Given the description of an element on the screen output the (x, y) to click on. 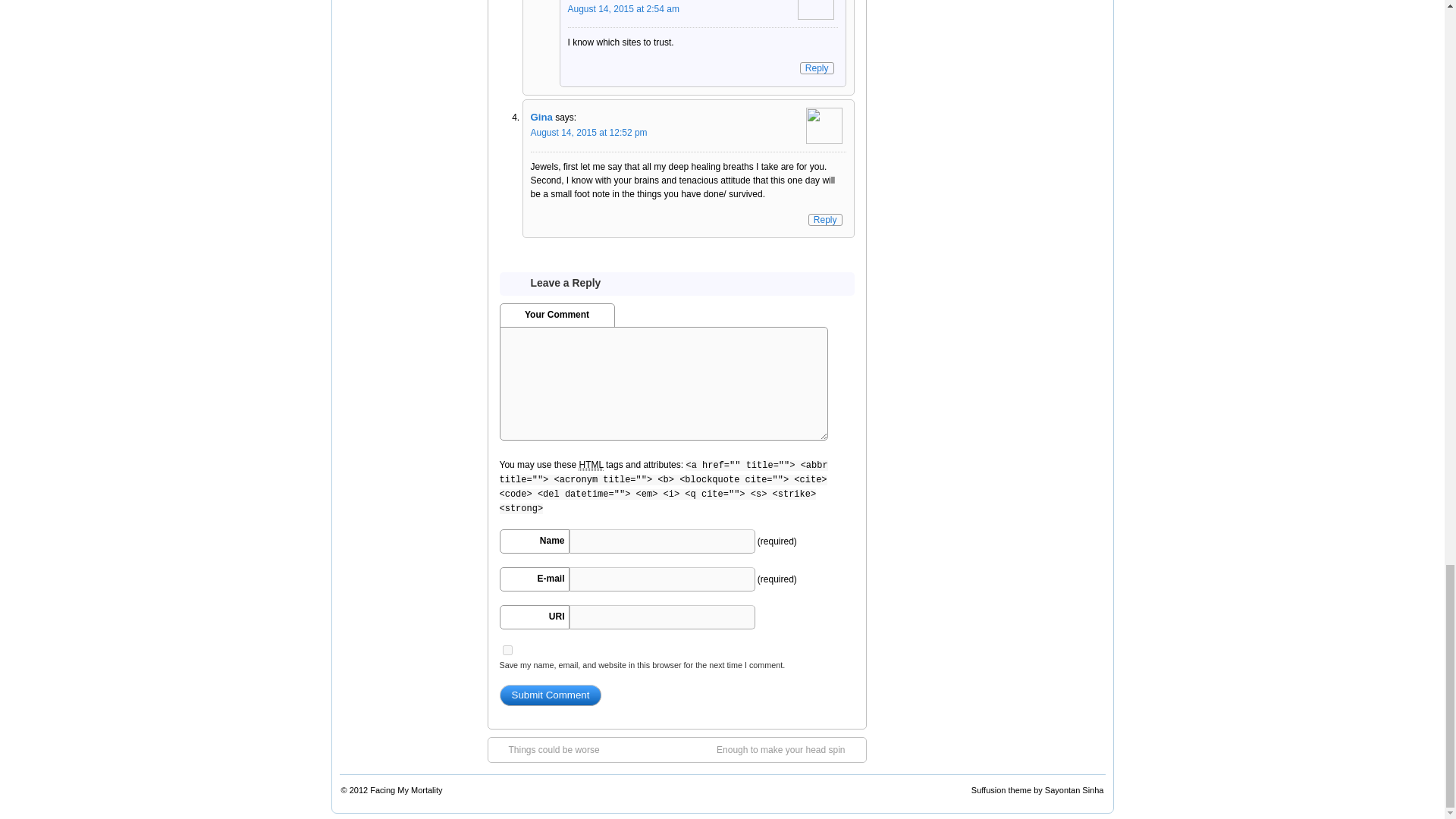
HyperText Markup Language (590, 464)
yes (507, 650)
Reply (816, 68)
Reply (825, 219)
August 14, 2015 at 2:54 am (622, 9)
Submit Comment (550, 694)
  Things could be worse (545, 749)
Submit Comment (550, 694)
August 14, 2015 at 12:52 pm (589, 132)
  Enough to make your head spin (788, 749)
